Given the description of an element on the screen output the (x, y) to click on. 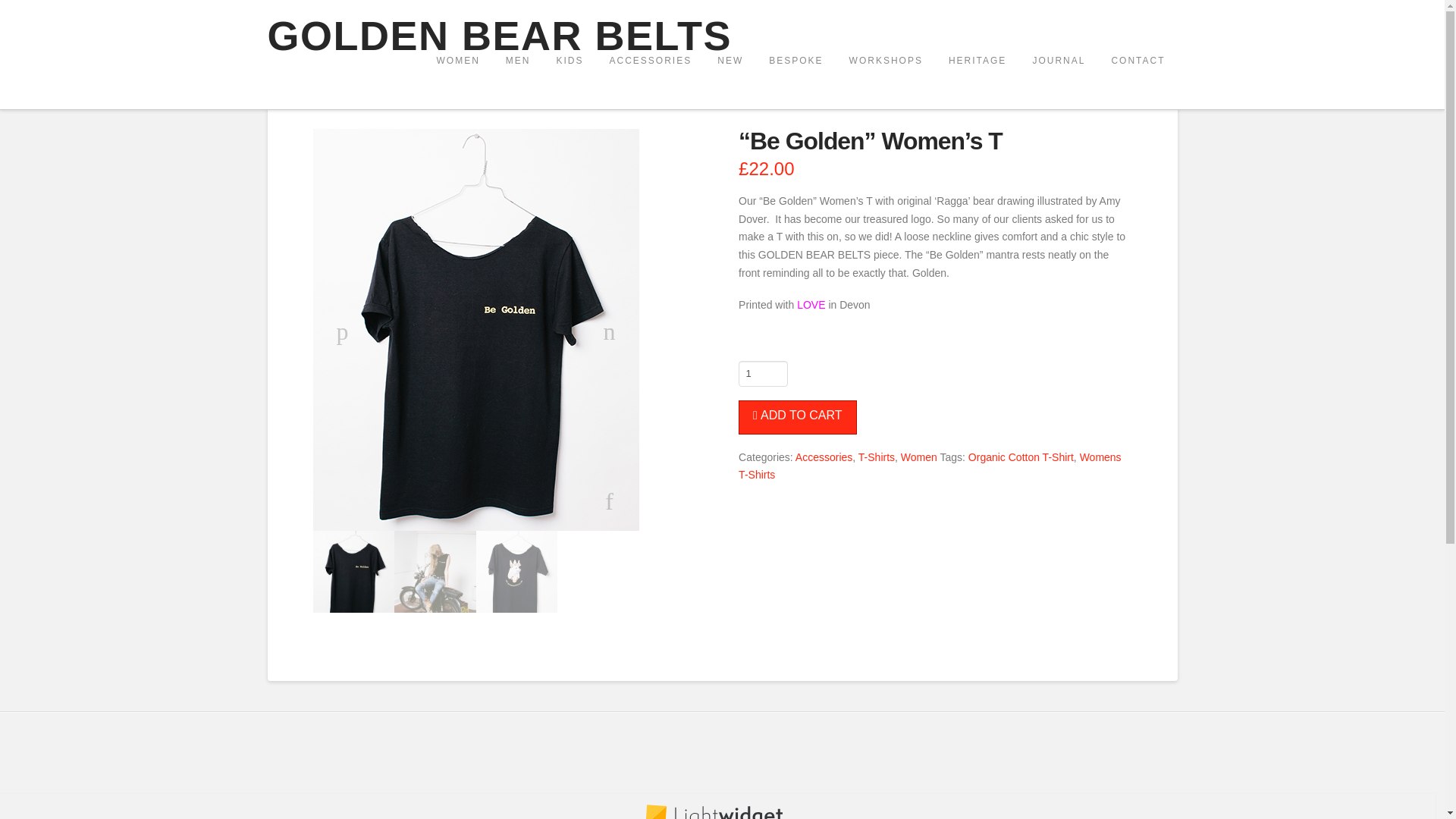
womens organic cotton-t-shirt (353, 571)
Women (919, 457)
T-Shirts (877, 457)
CONTACT (1136, 82)
BESPOKE (794, 82)
HERITAGE (975, 82)
belts (435, 571)
Womens T-Shirts (929, 466)
NEW (729, 82)
Golden-Bear-Belts-womens-t-shirt2B (516, 571)
MADE BY INDIVIDUALS FOR AN INDIVIDUAL (499, 35)
JOURNAL (1057, 82)
Qty (762, 373)
ADD TO CART (797, 417)
Organic Cotton T-Shirt (1021, 457)
